Given the description of an element on the screen output the (x, y) to click on. 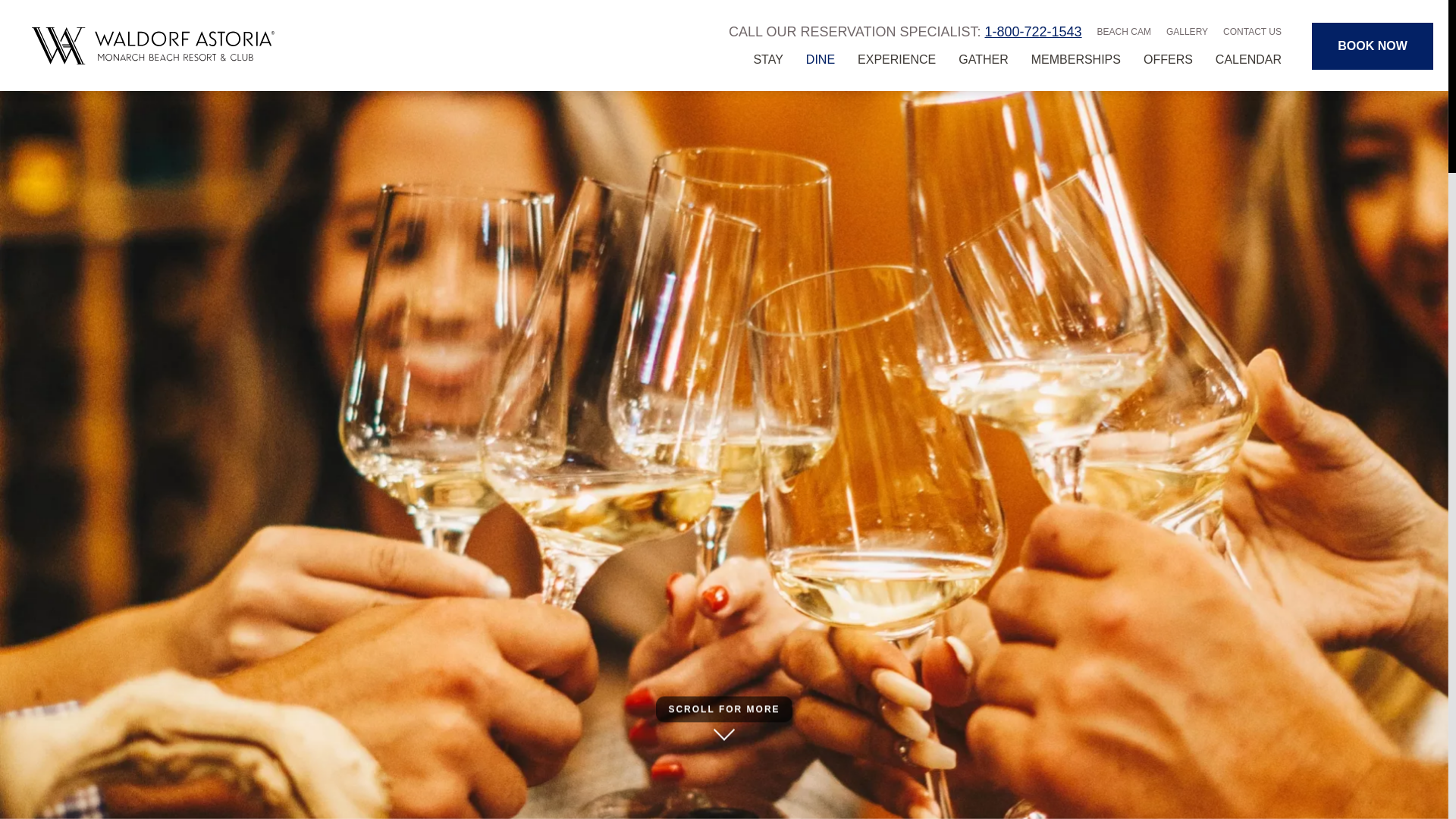
OFFERS (1167, 59)
STAY (767, 59)
CONTACT US (1252, 31)
DINE (820, 59)
SCROLL FOR MORE (724, 707)
BEACH CAM (1124, 31)
GATHER (982, 59)
1-800-722-1543 (1032, 31)
MEMBERSHIPS (1075, 59)
GALLERY (1187, 31)
